Given the description of an element on the screen output the (x, y) to click on. 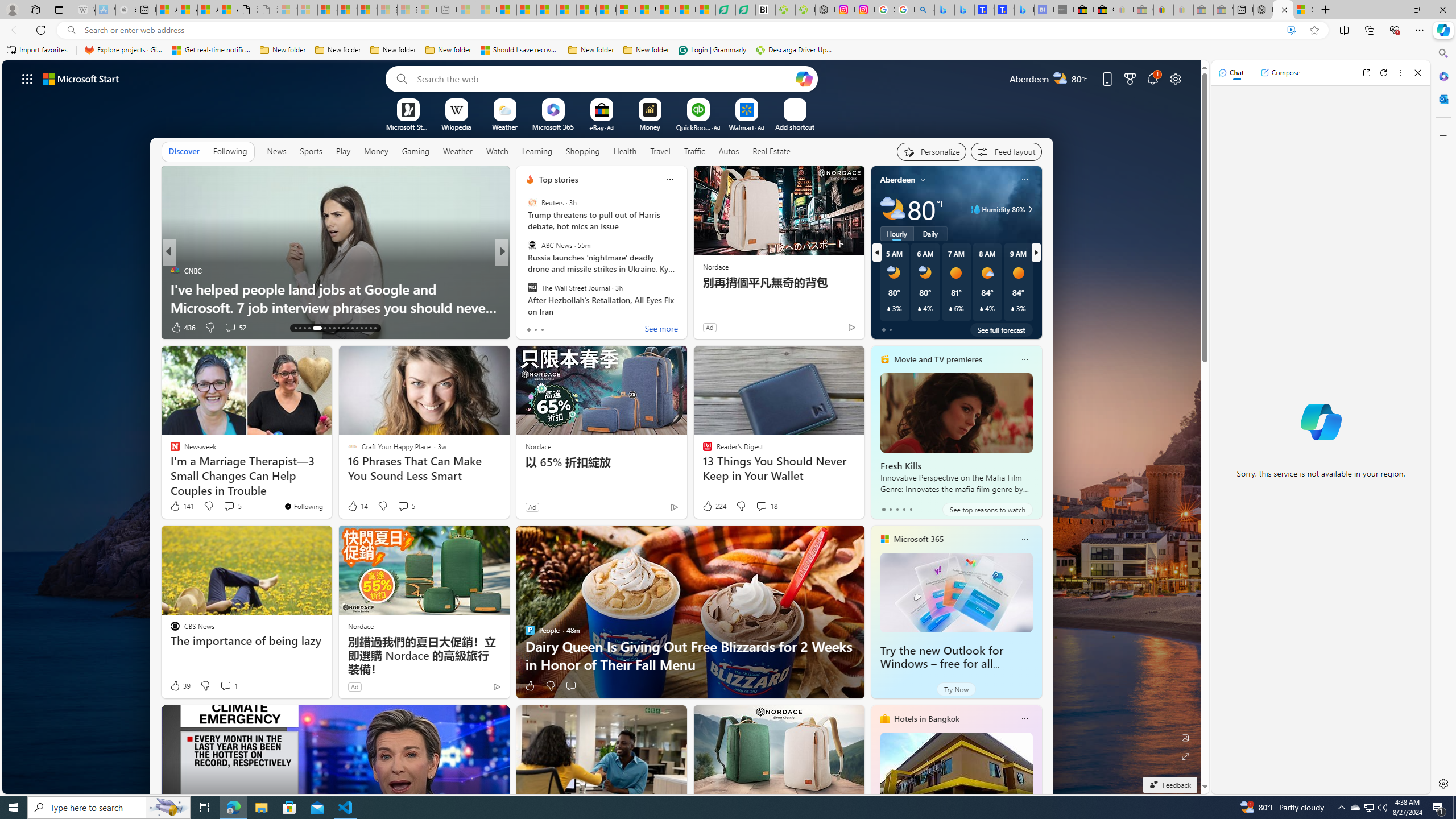
New folder (646, 49)
Foo BAR | Trusted Community Engagement and Contributions (606, 9)
Not Your Boss Babe (524, 270)
AutomationID: tab-21 (338, 328)
Food and Drink - MSN (526, 9)
View comments 5 Comment (406, 505)
Class: weather-current-precipitation-glyph (1012, 308)
